Given the description of an element on the screen output the (x, y) to click on. 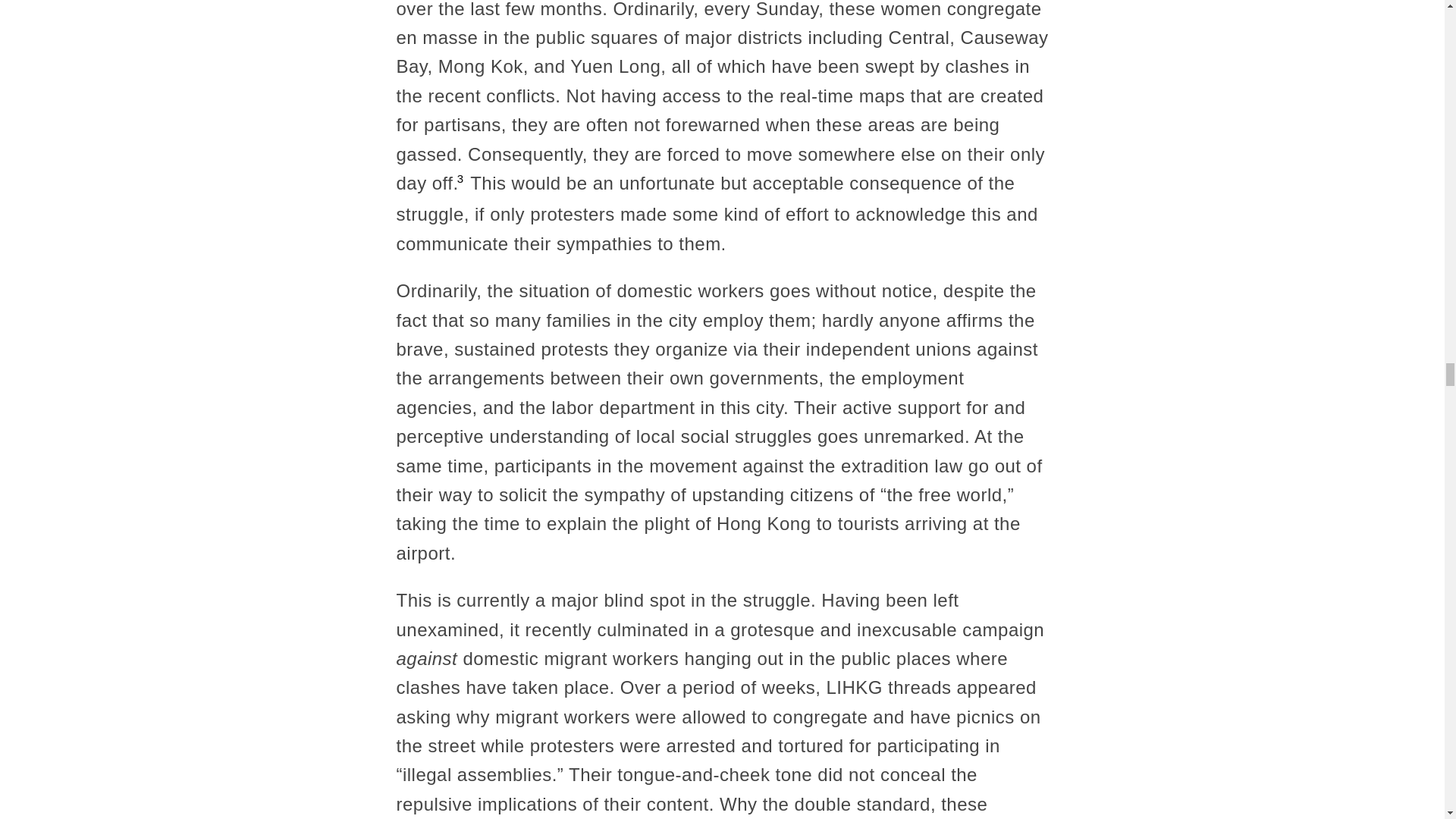
3 (460, 178)
